Given the description of an element on the screen output the (x, y) to click on. 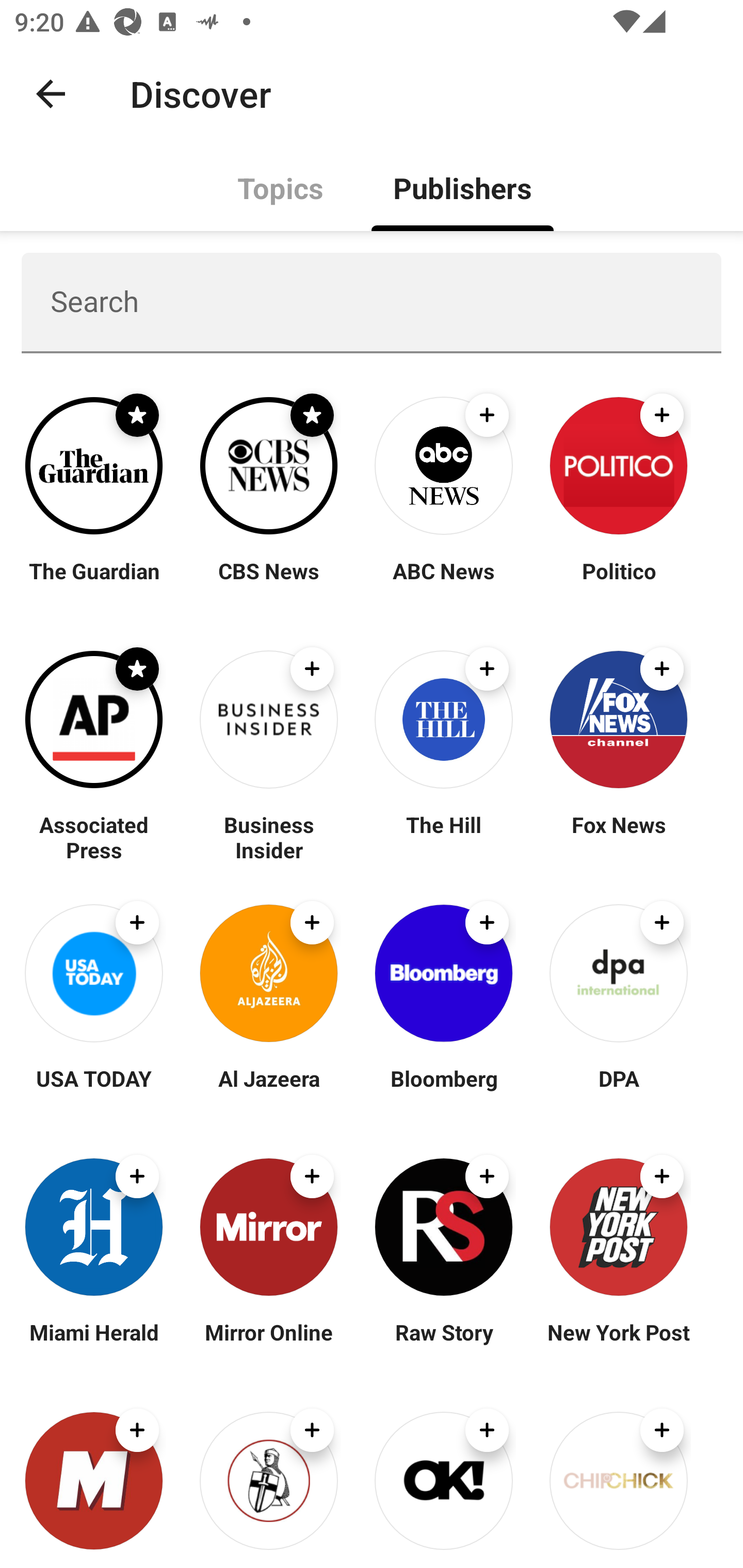
Topics (280, 187)
Search (371, 302)
The Guardian (93, 582)
CBS News (268, 582)
ABC News (443, 582)
Politico (618, 582)
Associated Press (93, 836)
Business Insider (268, 836)
The Hill (443, 836)
Fox News (618, 836)
USA TODAY (93, 1090)
Al Jazeera (268, 1090)
Bloomberg (443, 1090)
DPA (618, 1090)
Miami Herald (93, 1344)
Mirror Online (268, 1344)
Raw Story (443, 1344)
New York Post (618, 1344)
